Given the description of an element on the screen output the (x, y) to click on. 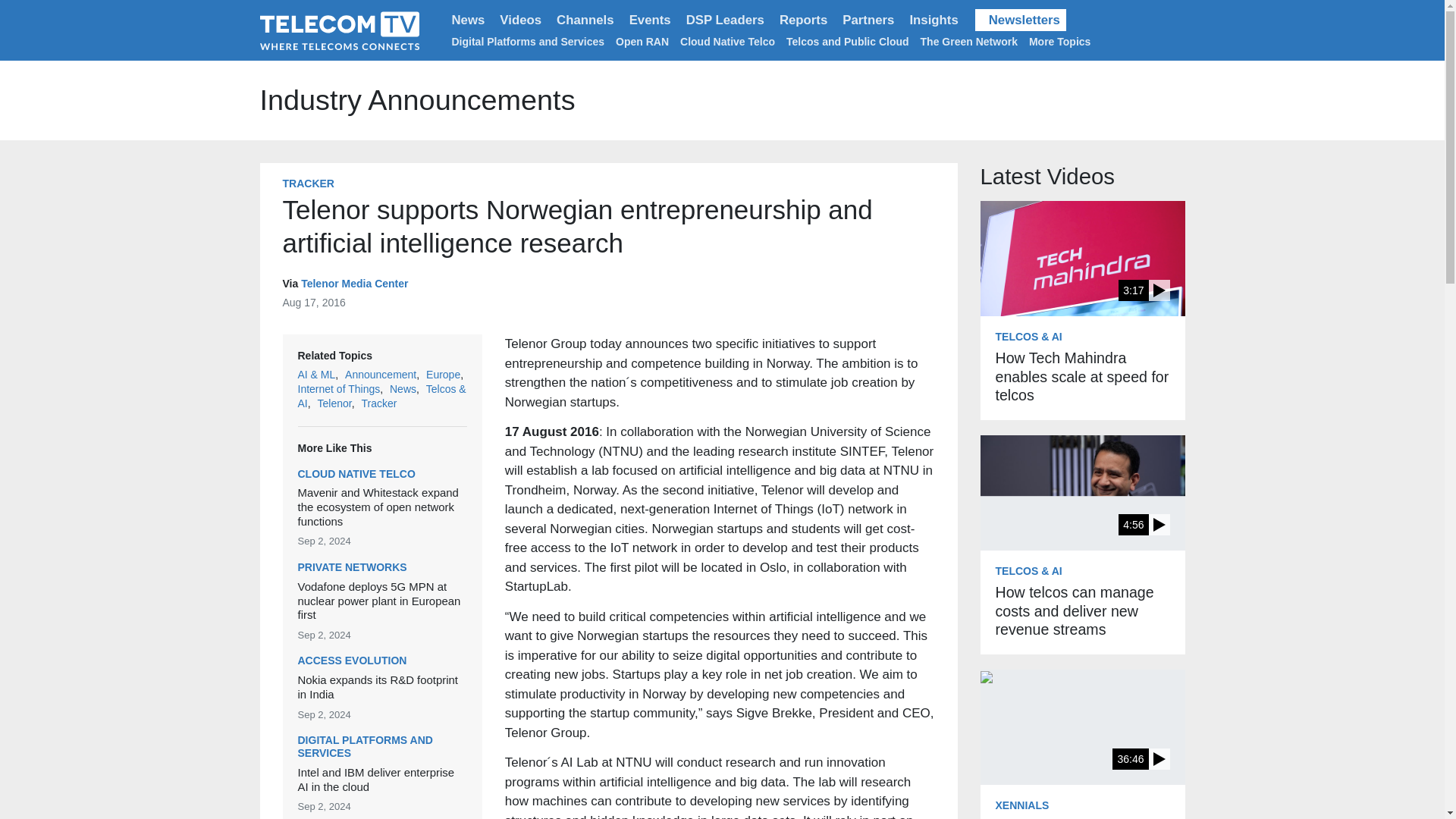
Newsletters (1020, 20)
Videos (520, 20)
Telcos and Public Cloud (847, 41)
More Topics (1062, 41)
DSP Leaders (724, 20)
Partners (867, 20)
Insights (932, 20)
Reports (802, 20)
The Green Network (968, 41)
Open RAN (641, 41)
